Given the description of an element on the screen output the (x, y) to click on. 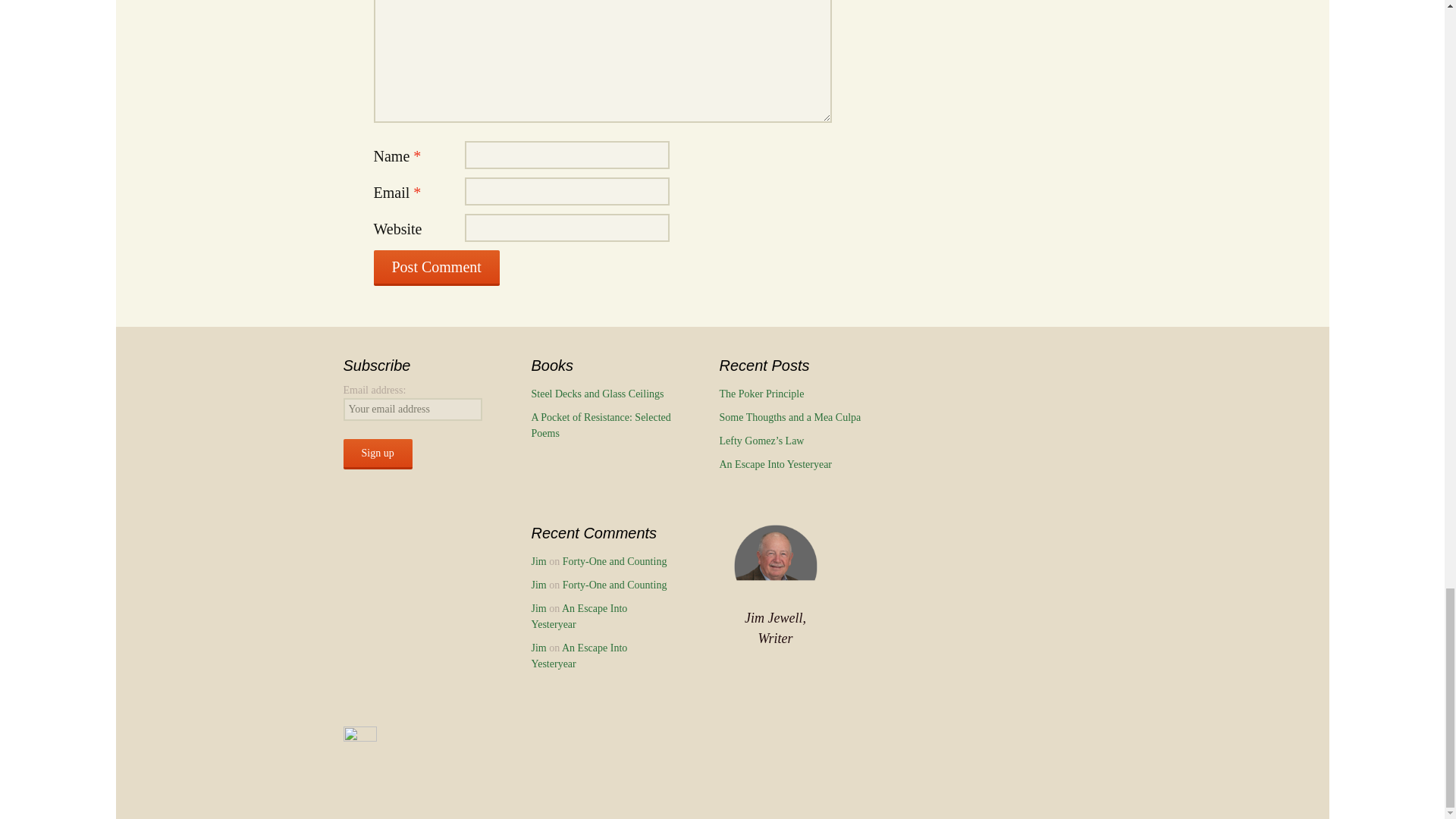
Sign up (377, 453)
Sign up (377, 453)
Post Comment (435, 267)
Steel Decks and Glass Ceilings (597, 393)
Post Comment (435, 267)
A Pocket of Resistance: Selected Poems (600, 424)
